Given the description of an element on the screen output the (x, y) to click on. 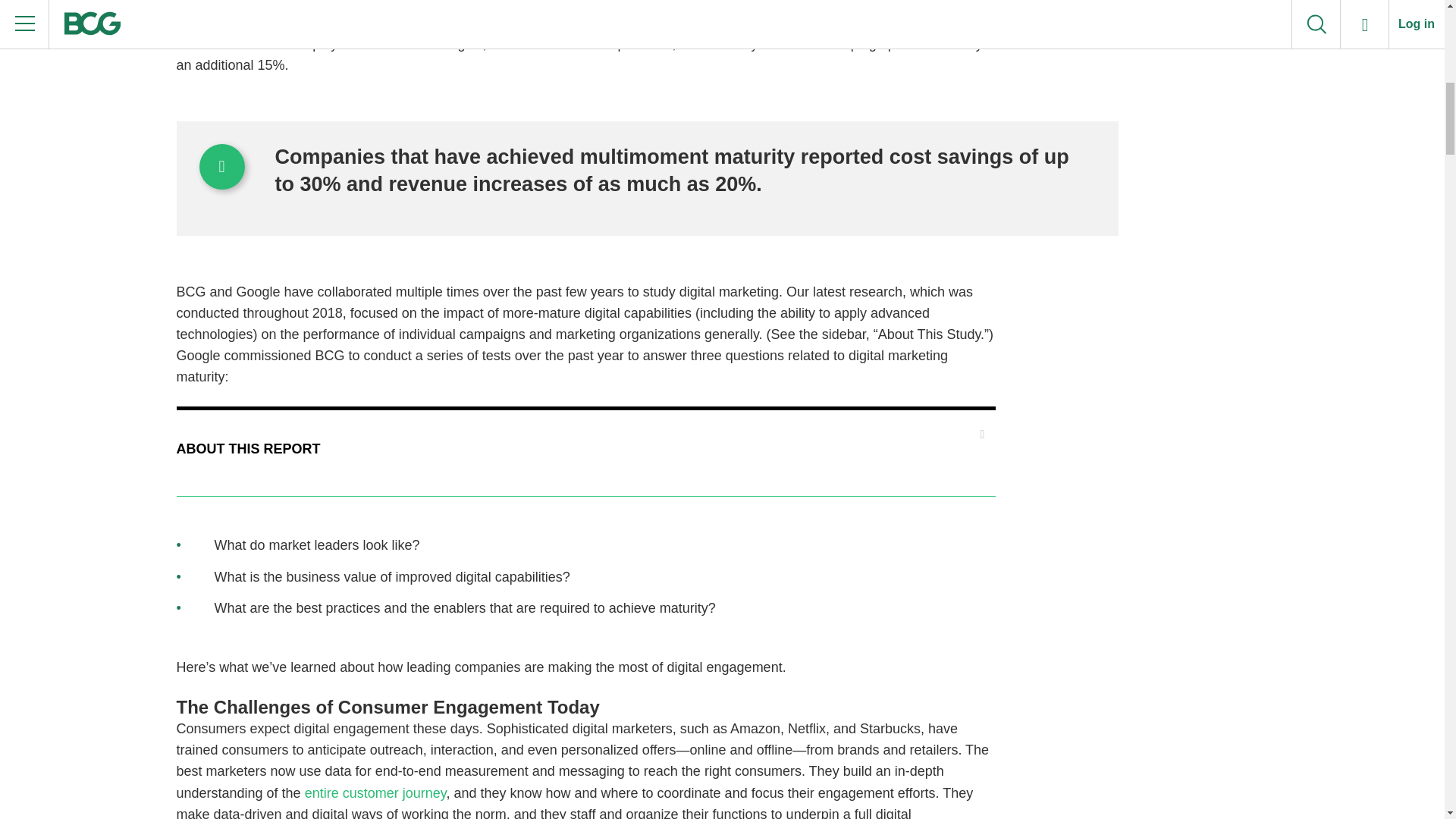
entire customer journey (375, 792)
About This Report (575, 449)
ABOUT THIS REPORT (575, 449)
